Given the description of an element on the screen output the (x, y) to click on. 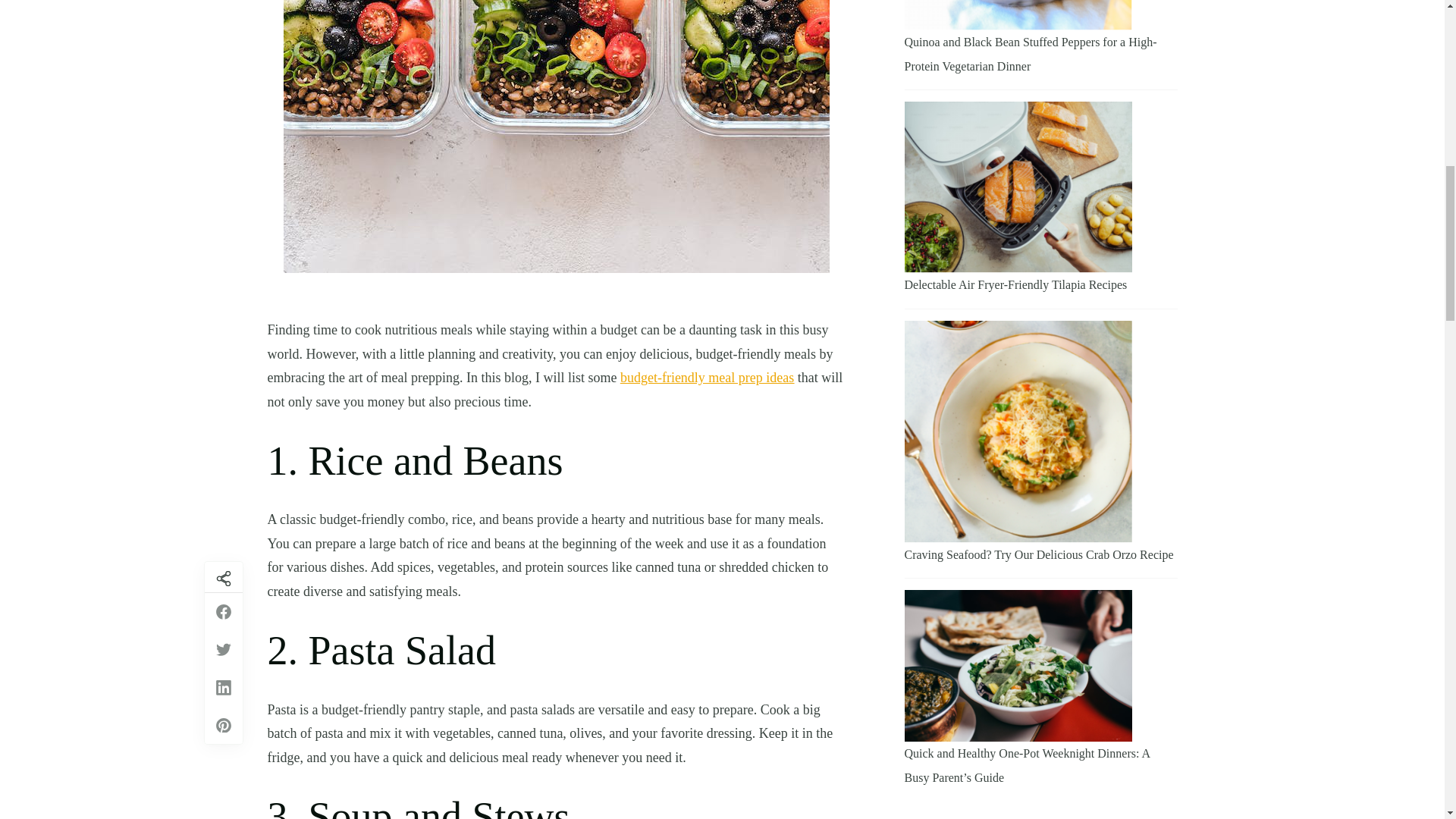
facebook (224, 611)
linkedin (224, 687)
twitter (224, 649)
pinterest (224, 725)
